Given the description of an element on the screen output the (x, y) to click on. 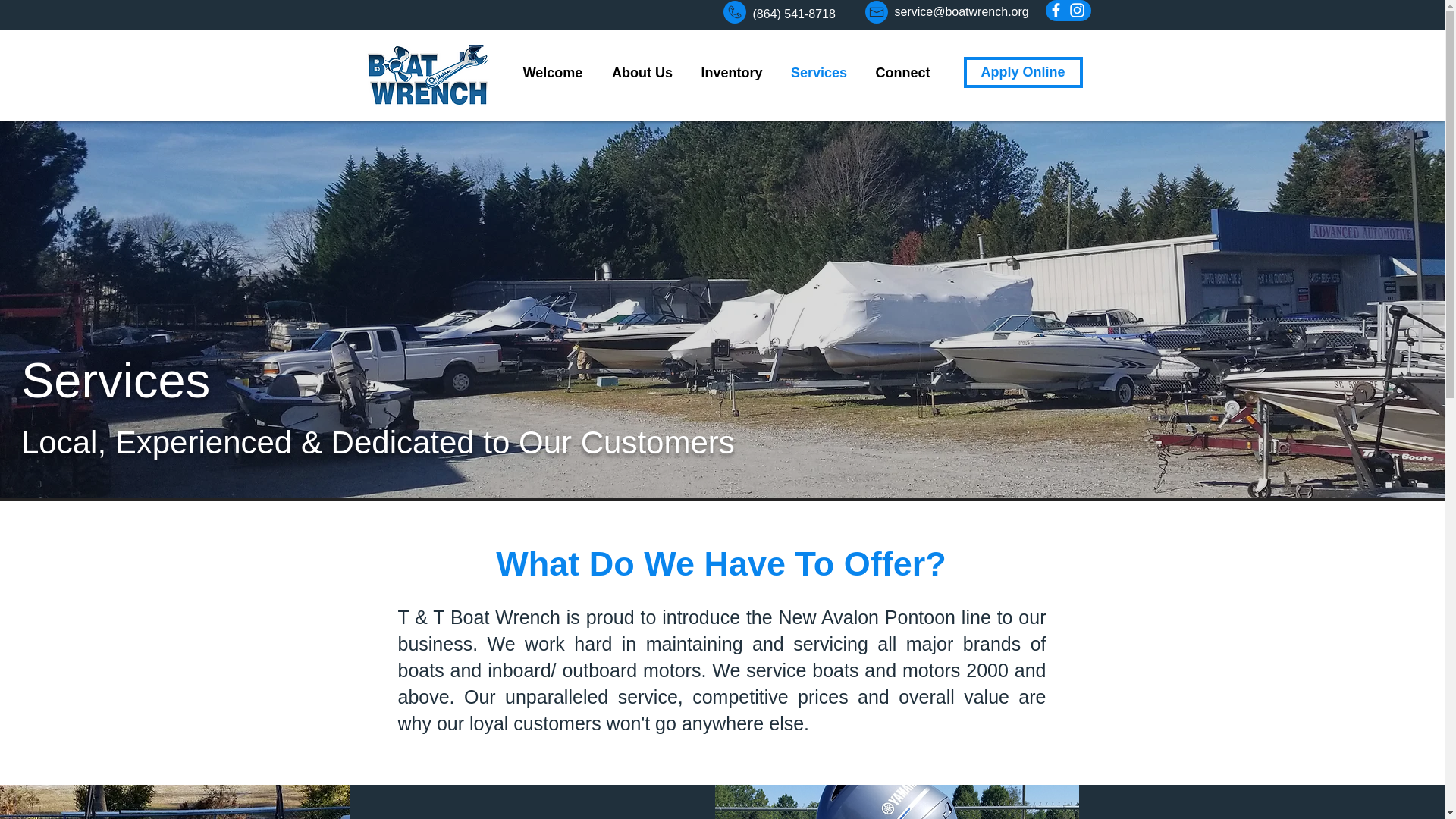
Welcome (553, 72)
Services (818, 72)
Apply Online (1021, 71)
